Given the description of an element on the screen output the (x, y) to click on. 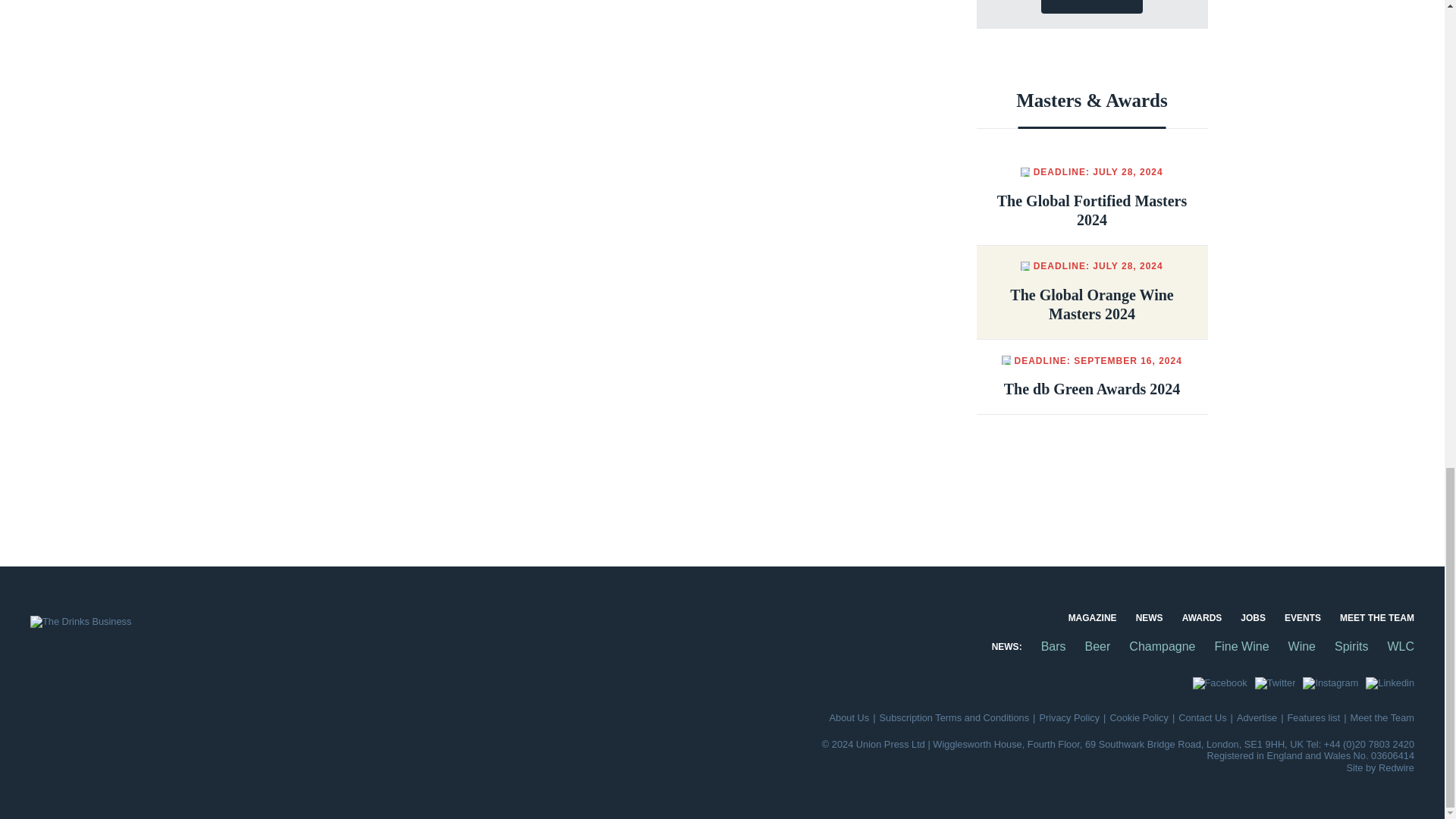
The Drinks Business (80, 621)
